Given the description of an element on the screen output the (x, y) to click on. 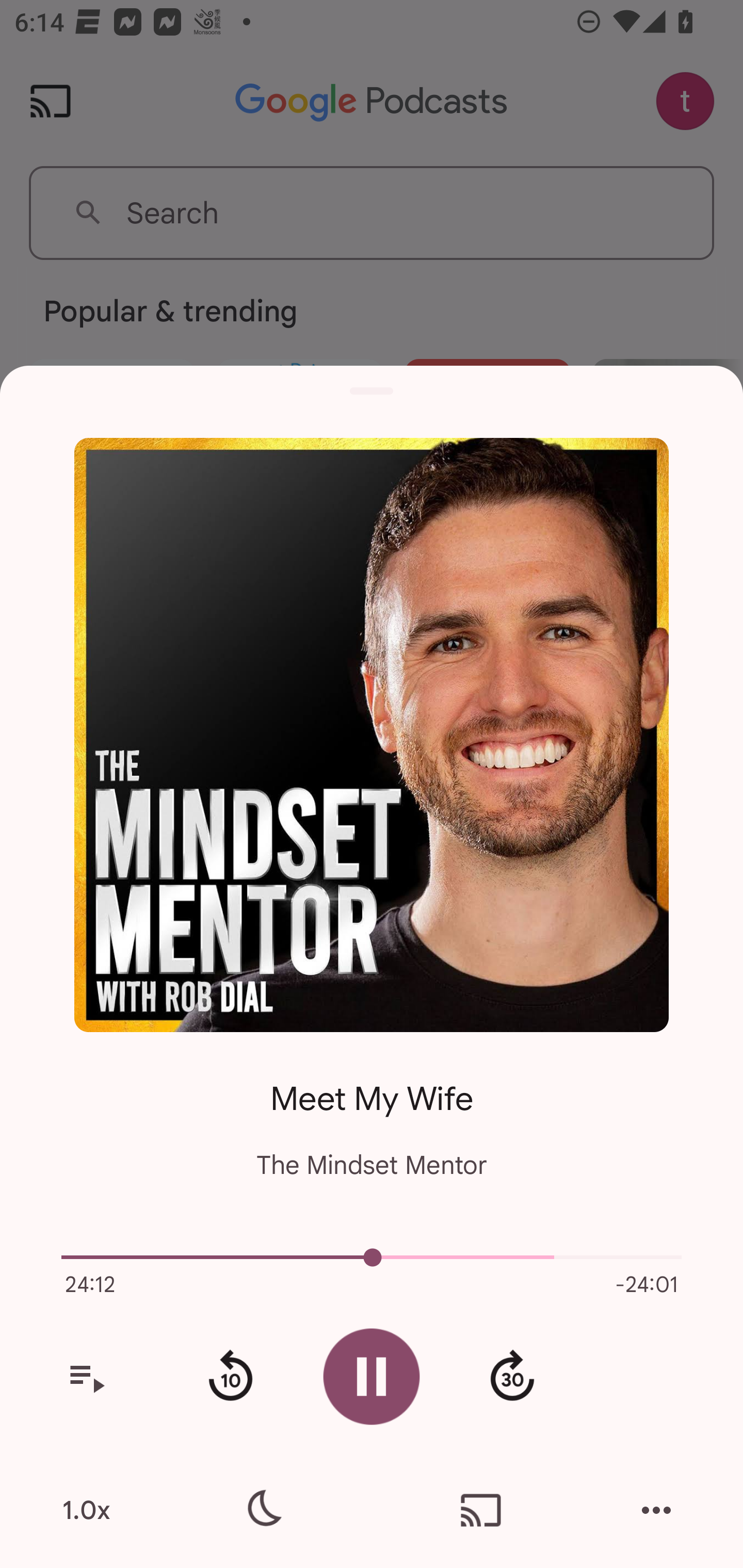
Open the show page for The Mindset Mentor (371, 734)
Meet My Wife The Mindset Mentor (371, 1115)
5017.0 Current episode playback (371, 1257)
Pause (371, 1376)
View your queue (86, 1376)
Rewind 10 seconds (230, 1376)
Fast forward 30 second (511, 1376)
1.0x Playback speed is 1.0. (86, 1510)
Sleep timer settings (261, 1510)
Cast. Disconnected (480, 1510)
More actions (655, 1510)
